Given the description of an element on the screen output the (x, y) to click on. 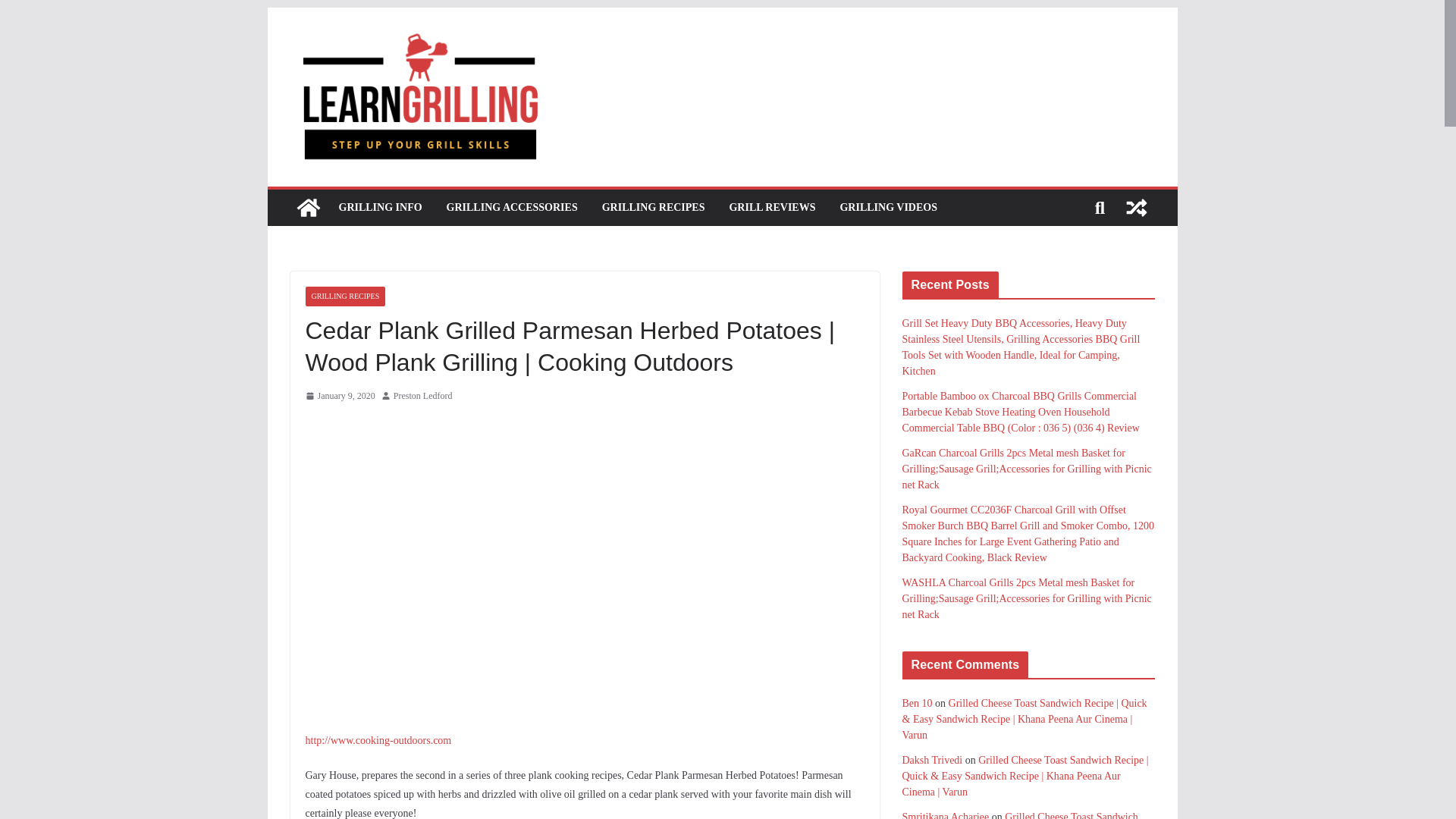
Preston Ledford (422, 396)
GRILLING RECIPES (344, 296)
GRILLING RECIPES (653, 207)
View a random post (1136, 207)
GRILLING ACCESSORIES (512, 207)
11:35 am (339, 396)
GRILLING VIDEOS (888, 207)
Preston Ledford (422, 396)
GRILL REVIEWS (772, 207)
